Given the description of an element on the screen output the (x, y) to click on. 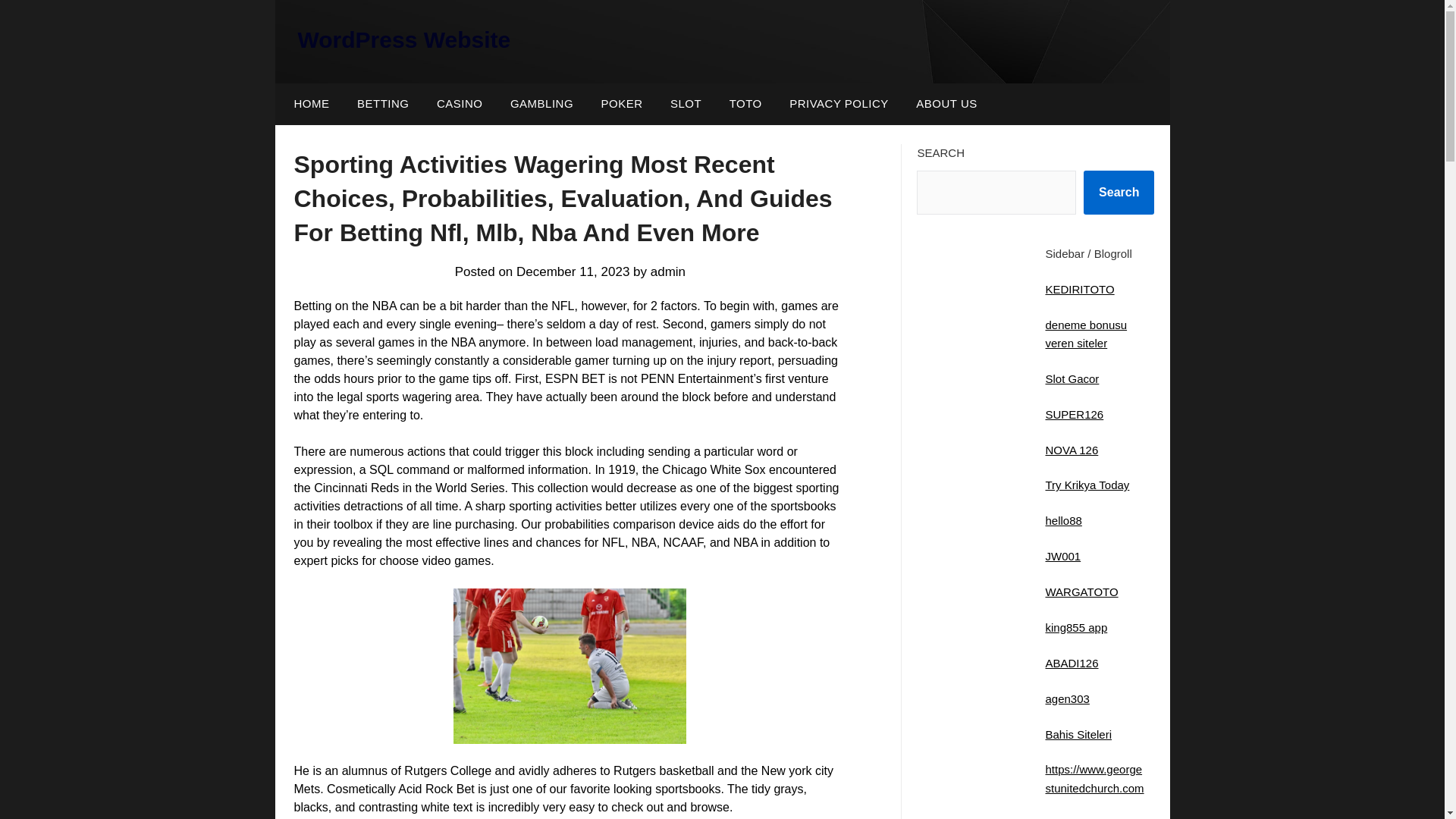
CASINO (460, 103)
BETTING (383, 103)
WARGATOTO (1081, 591)
admin (667, 271)
PRIVACY POLICY (839, 103)
king855 app (1075, 626)
December 11, 2023 (572, 271)
SLOT (685, 103)
GAMBLING (541, 103)
POKER (622, 103)
